Given the description of an element on the screen output the (x, y) to click on. 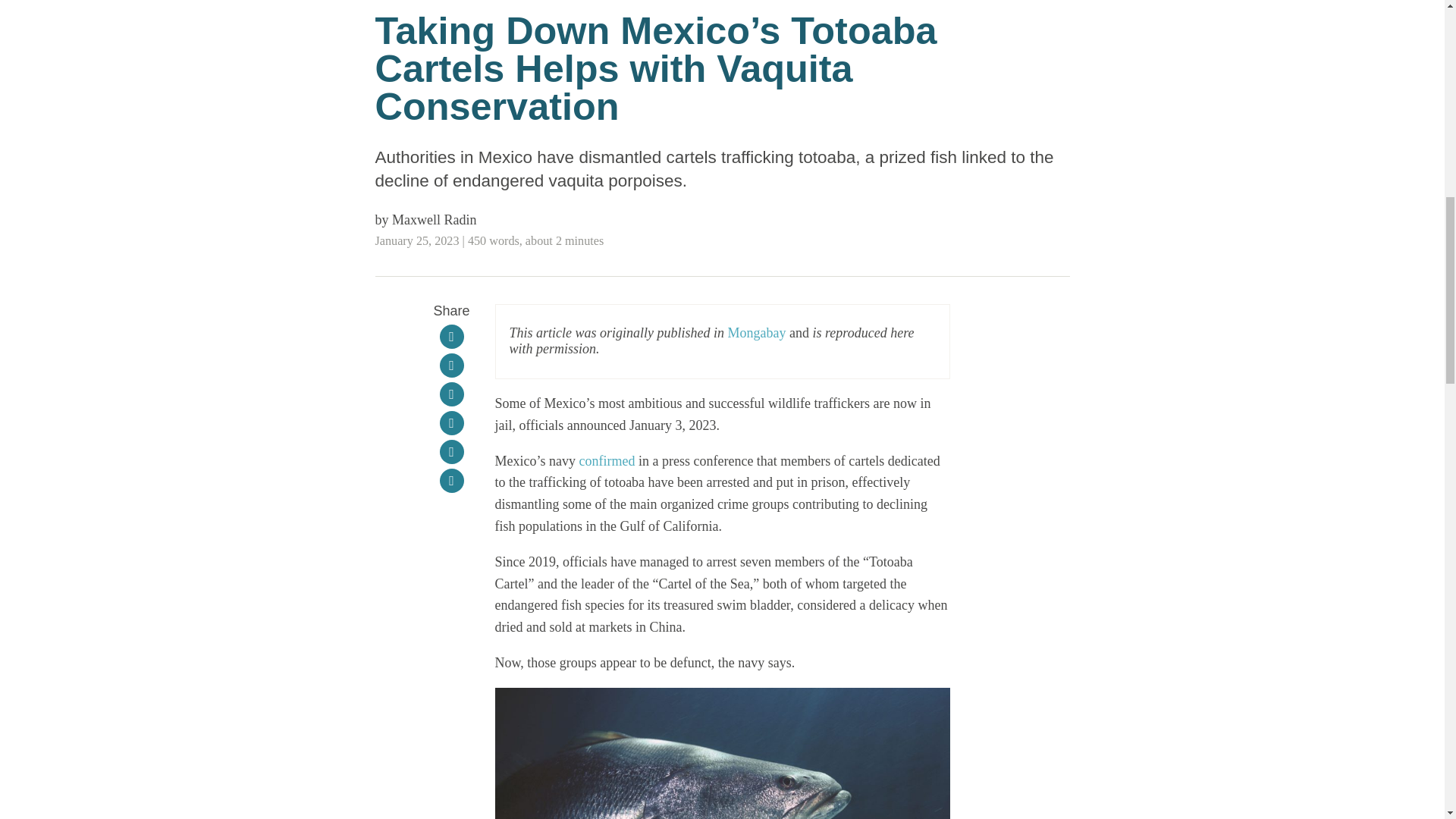
Share on Pocket (451, 422)
Share on Facebook (451, 364)
Share on Flipboard (451, 336)
Share by Email (451, 480)
Share on Twitter (451, 394)
Share on Mastodon (451, 451)
Mongabay (757, 332)
